Given the description of an element on the screen output the (x, y) to click on. 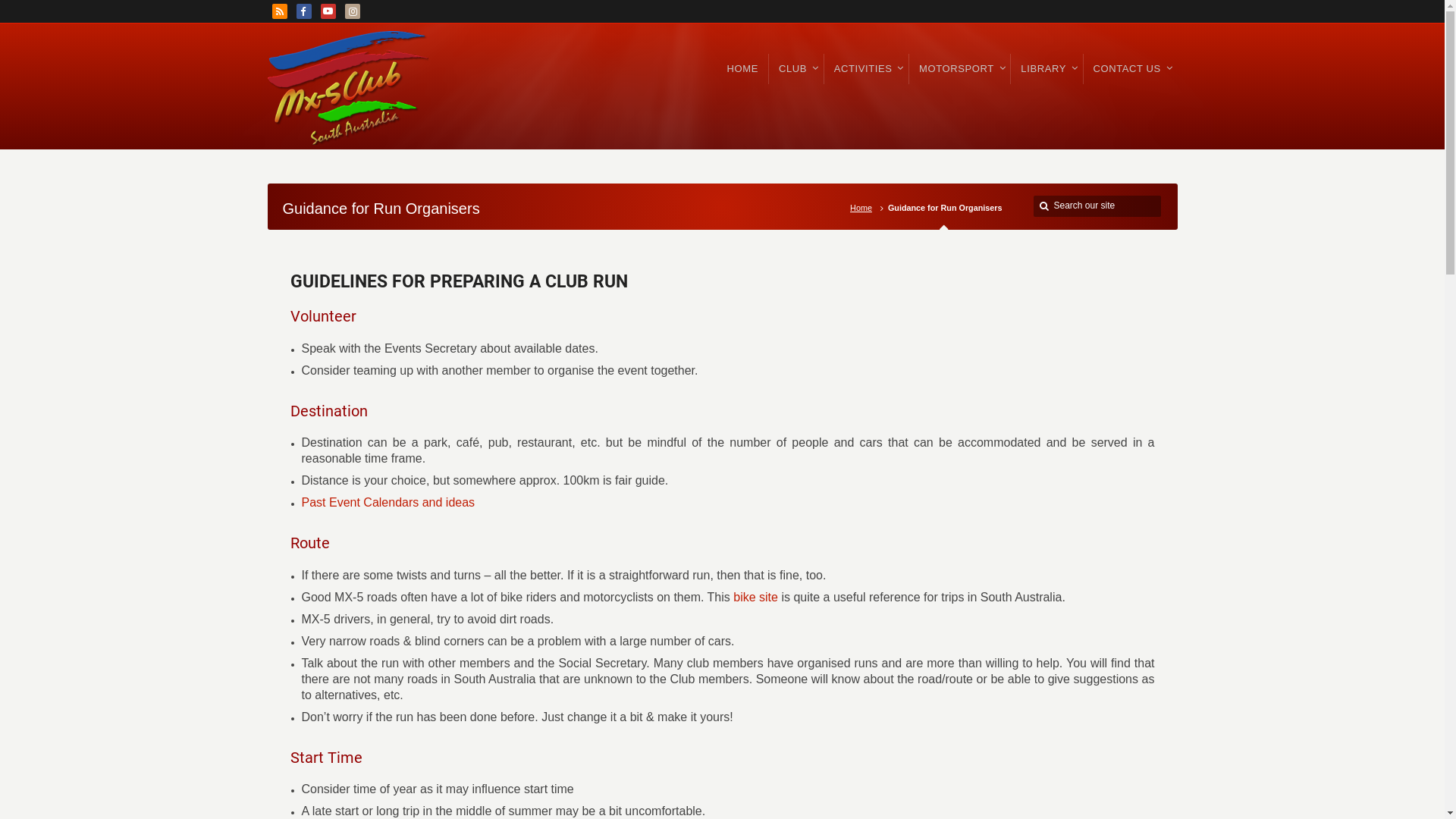
Past Event Calendars and ideas Element type: text (388, 503)
Instagram Element type: text (351, 10)
bike site Element type: text (755, 596)
MOTORSPORT Element type: text (959, 68)
RSS Element type: text (278, 10)
ACTIVITIES Element type: text (866, 68)
search Element type: text (1044, 205)
Home Element type: text (863, 207)
YouTube Element type: text (327, 10)
Facebook Element type: text (302, 10)
HOME Element type: text (742, 68)
CLUB Element type: text (795, 68)
LIBRARY Element type: text (1046, 68)
CONTACT US Element type: text (1130, 68)
